Given the description of an element on the screen output the (x, y) to click on. 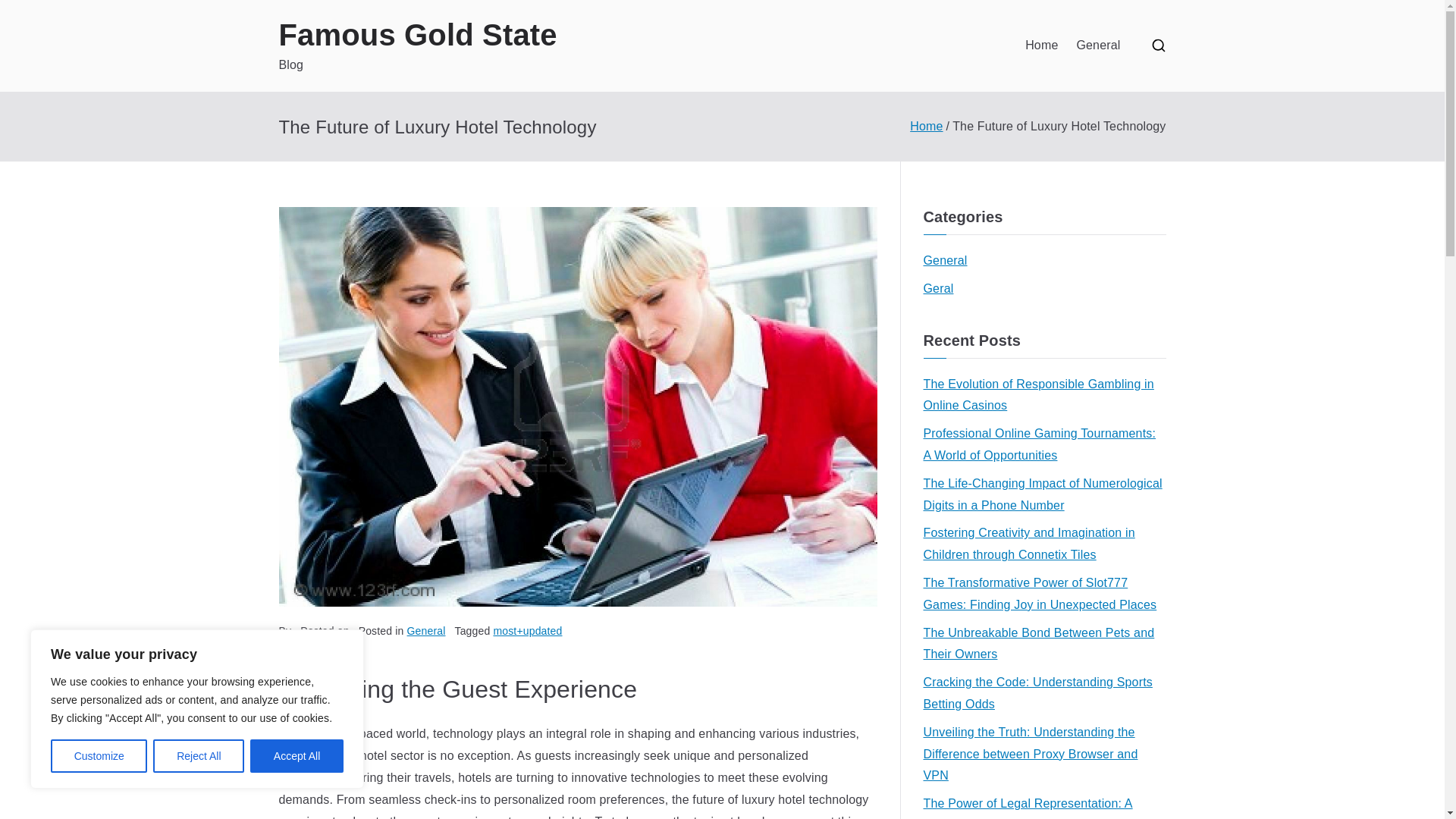
Accept All (296, 756)
Home (926, 125)
Home (1041, 45)
Reject All (198, 756)
Famous Gold State (418, 34)
General (1097, 45)
General (426, 630)
General (945, 260)
Customize (98, 756)
